Given the description of an element on the screen output the (x, y) to click on. 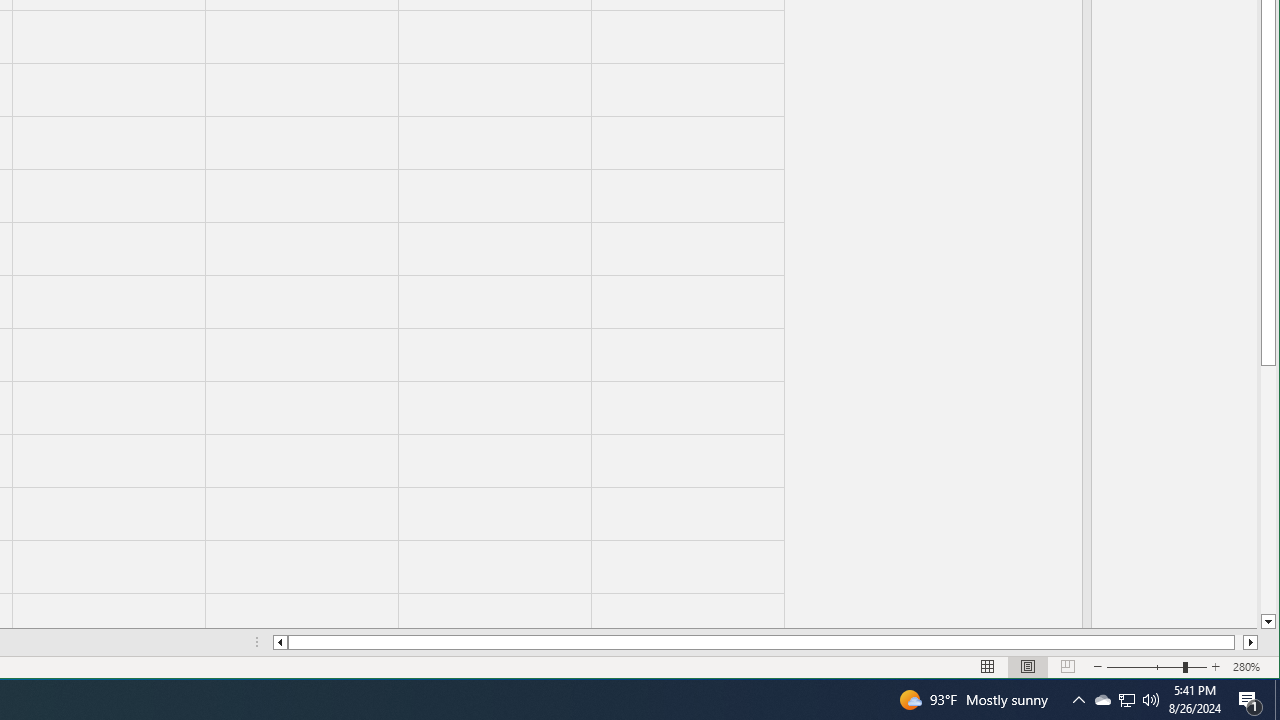
Column right (1250, 642)
Zoom In (1215, 667)
Column left (1102, 699)
Line down (279, 642)
Action Center, 1 new notification (1268, 622)
Show desktop (1250, 699)
Page Break Preview (1277, 699)
User Promoted Notification Area (1068, 667)
Normal (1126, 699)
Q2790: 100% (1126, 699)
Zoom (987, 667)
Class: NetUIScrollBar (1151, 699)
